Given the description of an element on the screen output the (x, y) to click on. 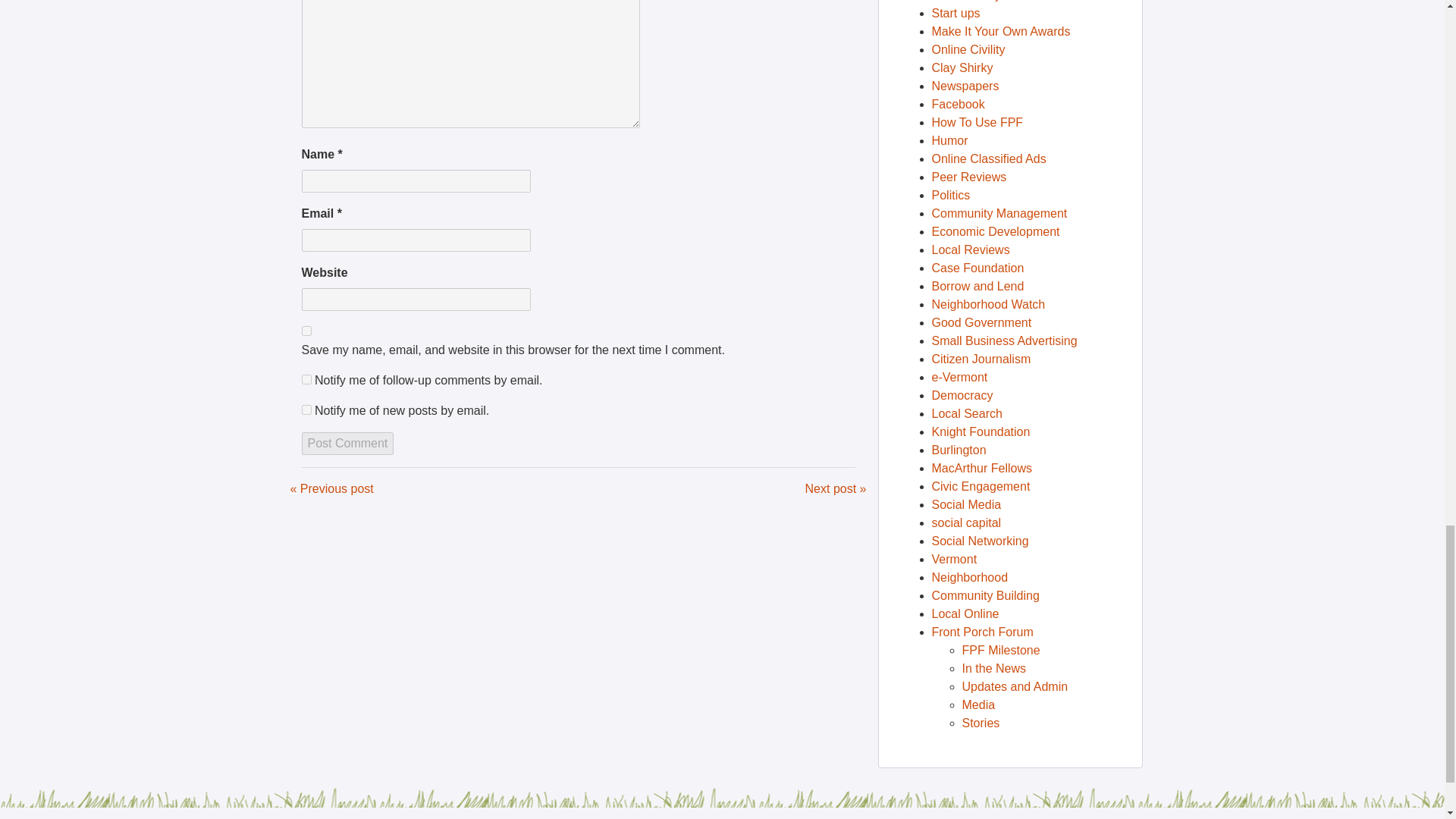
Post Comment (347, 443)
yes (306, 330)
subscribe (306, 409)
subscribe (306, 379)
